Given the description of an element on the screen output the (x, y) to click on. 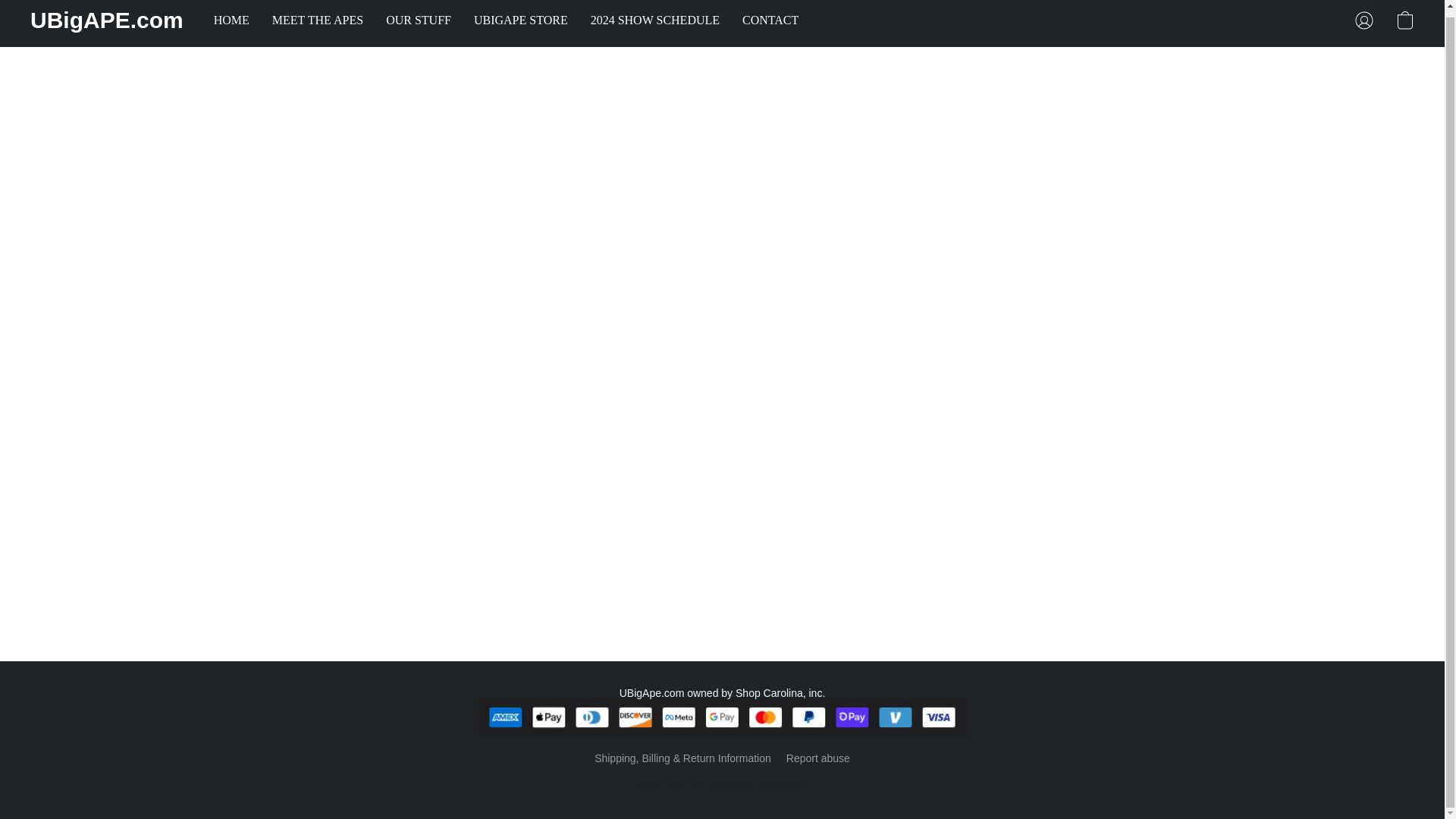
UBigAPE.com (722, 785)
UBIGAPE STORE (106, 20)
OUR STUFF (521, 20)
2024 SHOW SCHEDULE (418, 20)
CONTACT (654, 20)
Report abuse (763, 20)
HOME (818, 758)
MEET THE APES (237, 20)
Go to your shopping cart (317, 20)
